Given the description of an element on the screen output the (x, y) to click on. 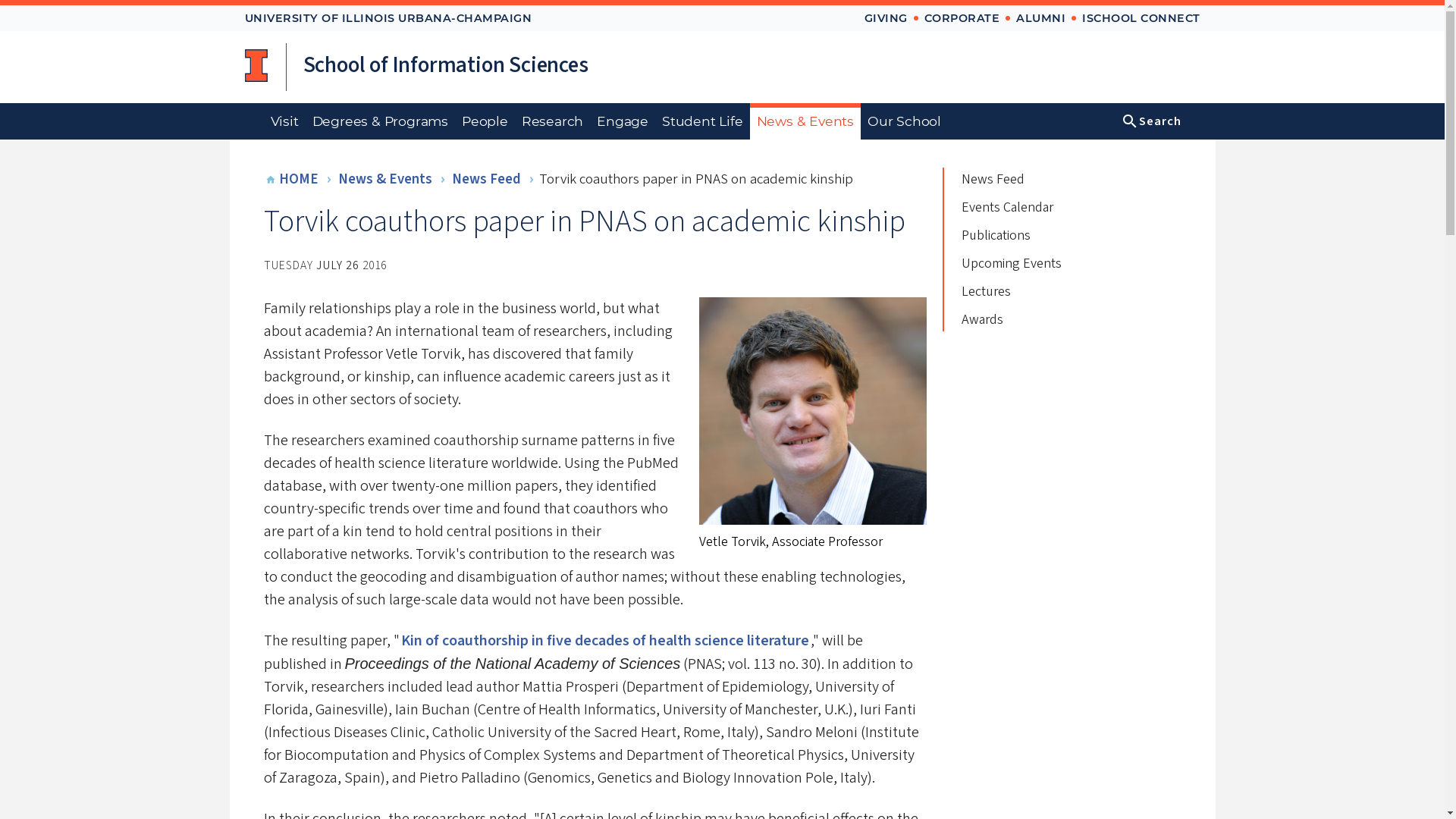
GIVING (885, 18)
People (484, 121)
SKIP TO MAIN NAVIGATION (938, 11)
ALUMNI (1040, 18)
ISCHOOL CONNECT (1140, 18)
Visit (284, 121)
SKIP TO MAIN CONTENT (928, 11)
School of Information Sciences (445, 66)
CORPORATE (960, 18)
Research (552, 121)
